Given the description of an element on the screen output the (x, y) to click on. 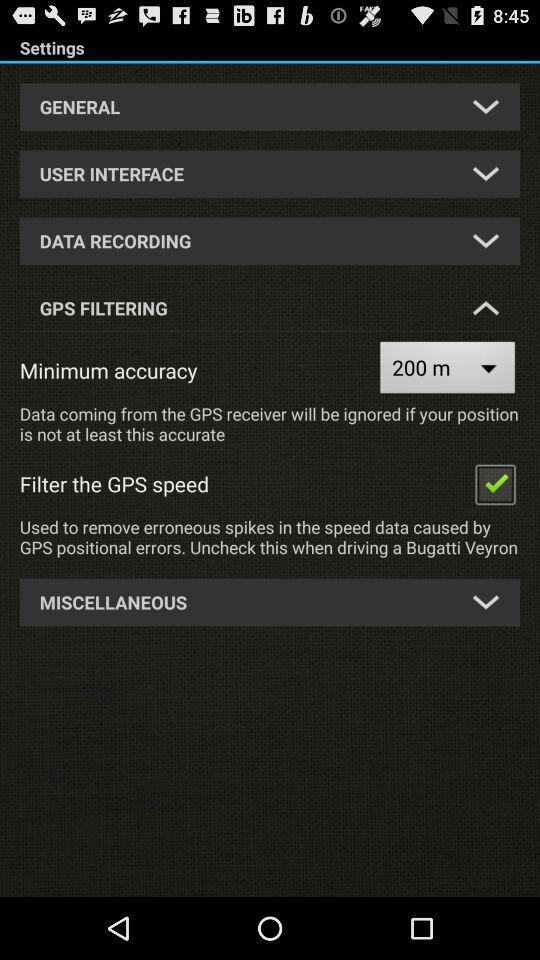
filter the gps speed (495, 483)
